Given the description of an element on the screen output the (x, y) to click on. 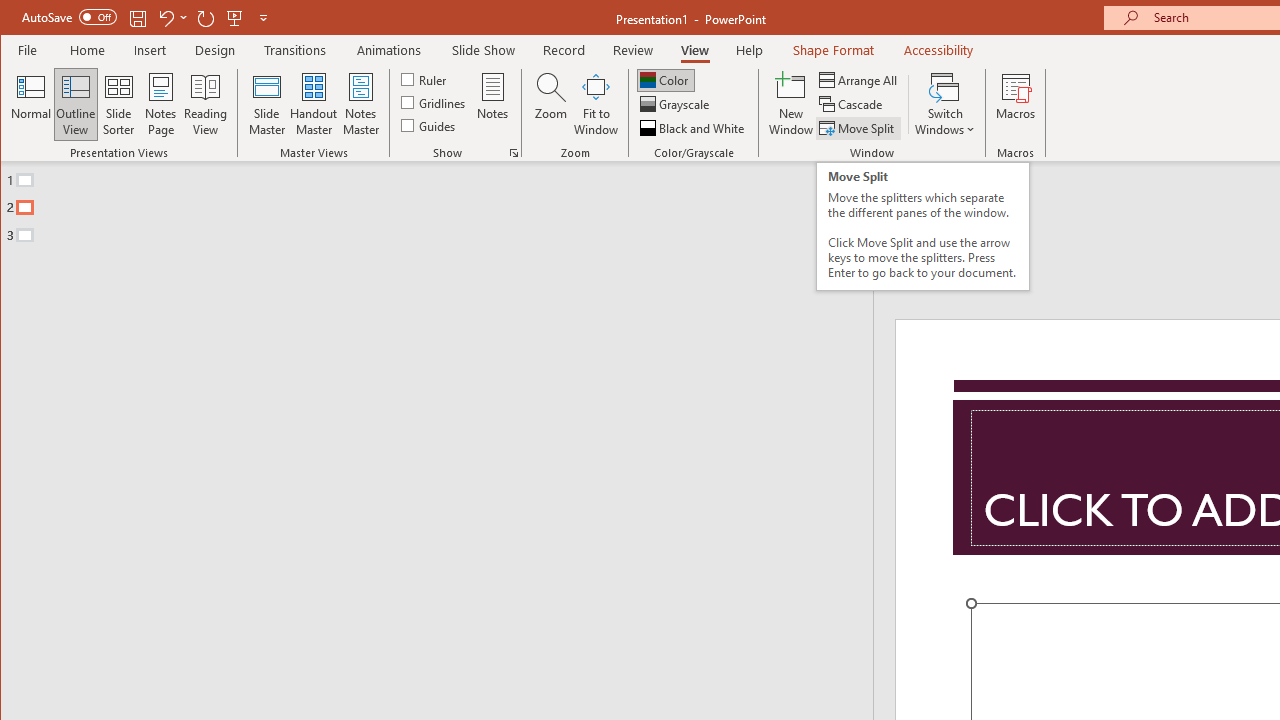
Fit to Window (596, 104)
Cascade (852, 103)
Ruler (425, 78)
